Given the description of an element on the screen output the (x, y) to click on. 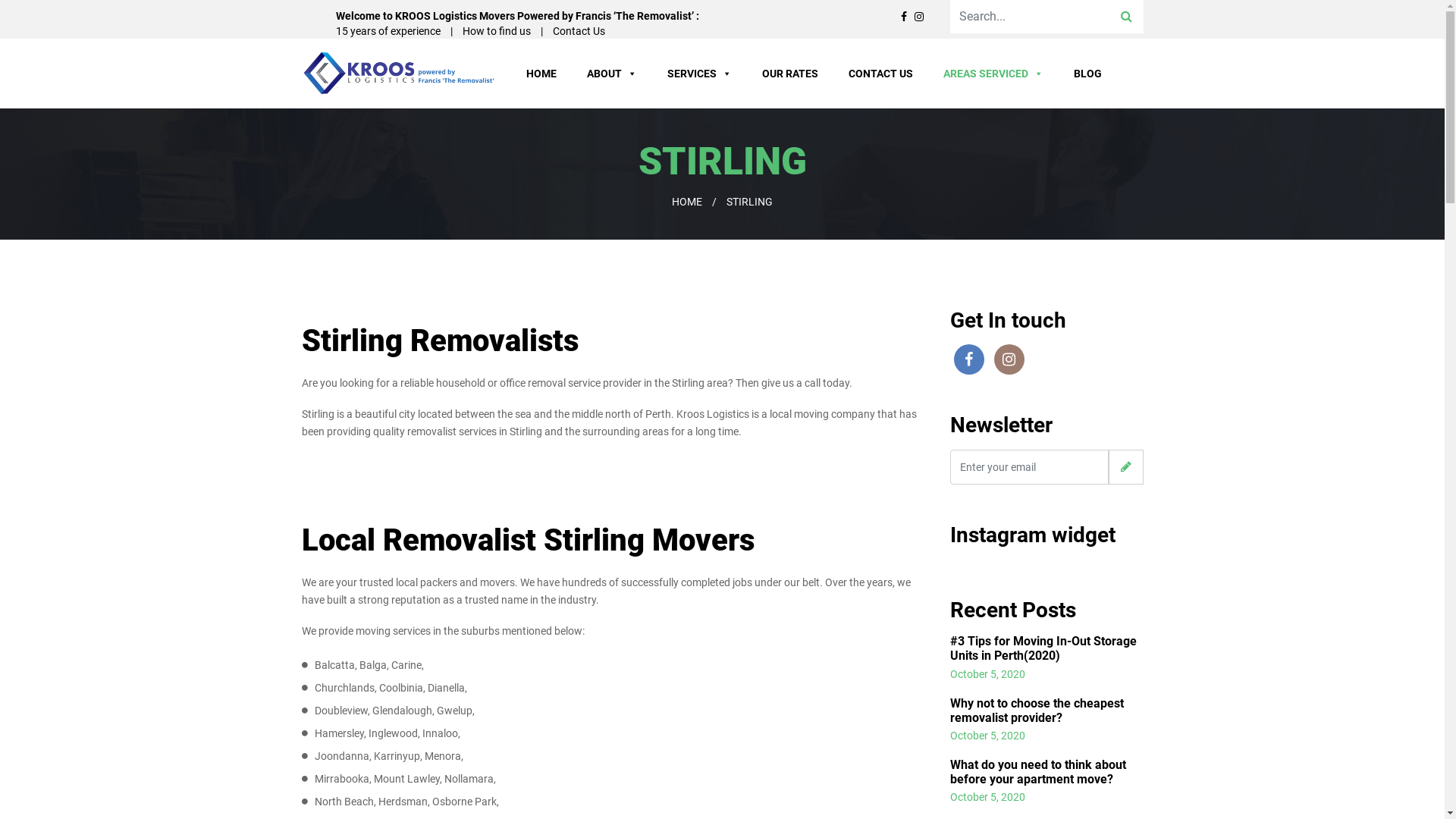
What do you need to think about before your apartment move? Element type: text (1037, 771)
HOME Element type: text (541, 73)
AREAS SERVICED Element type: text (993, 73)
HOME Element type: text (686, 201)
BLOG Element type: text (1087, 73)
Why not to choose the cheapest removalist provider? Element type: text (1036, 710)
Contact Us Element type: text (578, 31)
How to find us Element type: text (496, 31)
#3 Tips for Moving In-Out Storage Units in Perth(2020) Element type: text (1042, 647)
OUR RATES Element type: text (789, 73)
CONTACT US Element type: text (879, 73)
Search Element type: text (1125, 16)
ABOUT Element type: text (611, 73)
SERVICES Element type: text (699, 73)
